Given the description of an element on the screen output the (x, y) to click on. 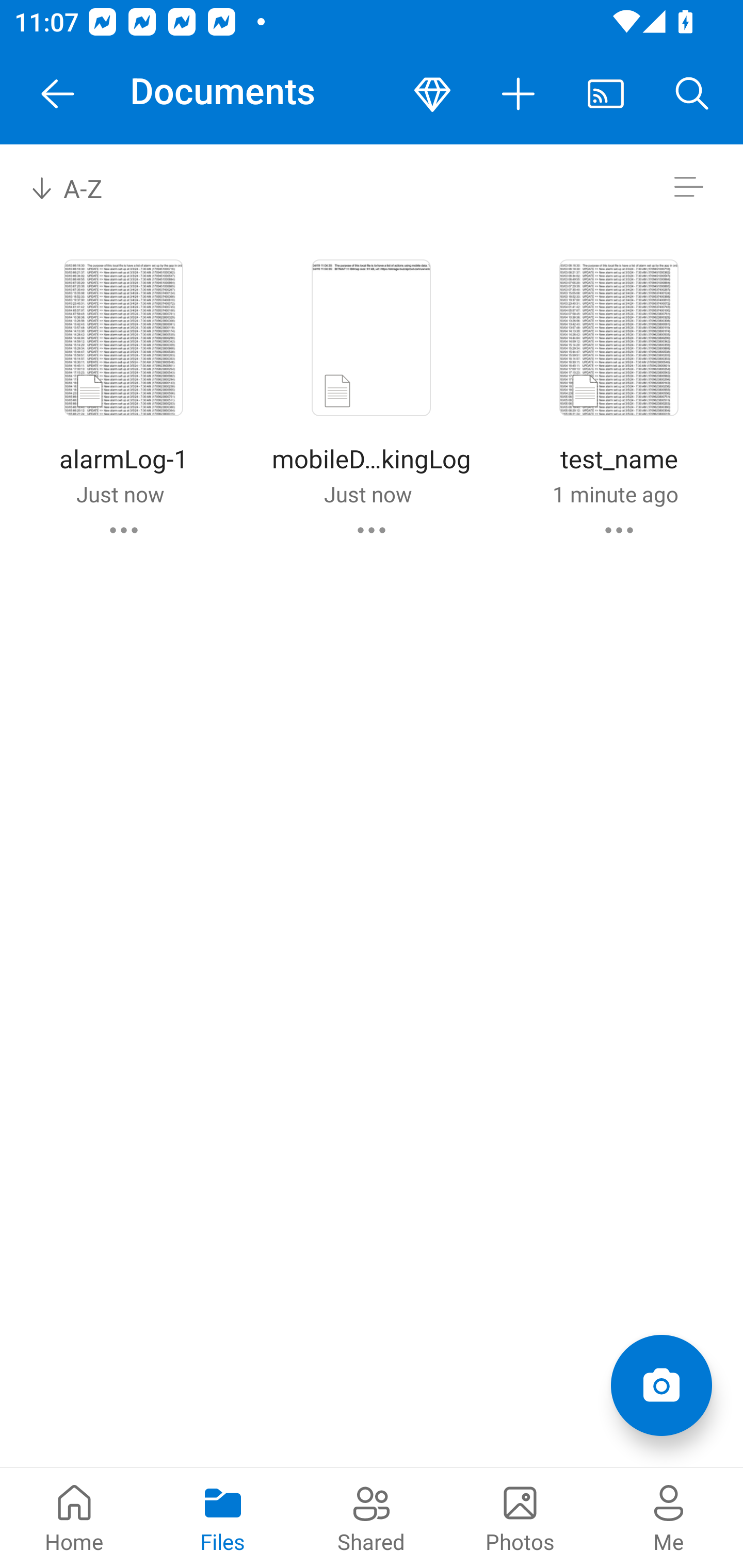
Navigate Up (57, 93)
Cast. Disconnected (605, 93)
Premium button (432, 93)
More actions button (518, 93)
Search button (692, 93)
A-Z Sort by combo box, sort by name, A to Z (80, 187)
Switch to list view (688, 187)
Document alarmLog-1 Just now alarmLog-1 commands (123, 393)
Document test_name 1 minute ago test_name commands (618, 393)
Just now (119, 493)
Just now (367, 493)
1 minute ago (615, 493)
alarmLog-1 commands (123, 529)
mobileDataTrackingLog commands (371, 529)
test_name commands (618, 529)
Add items Scan (660, 1385)
Home pivot Home (74, 1517)
Shared pivot Shared (371, 1517)
Photos pivot Photos (519, 1517)
Me pivot Me (668, 1517)
